Given the description of an element on the screen output the (x, y) to click on. 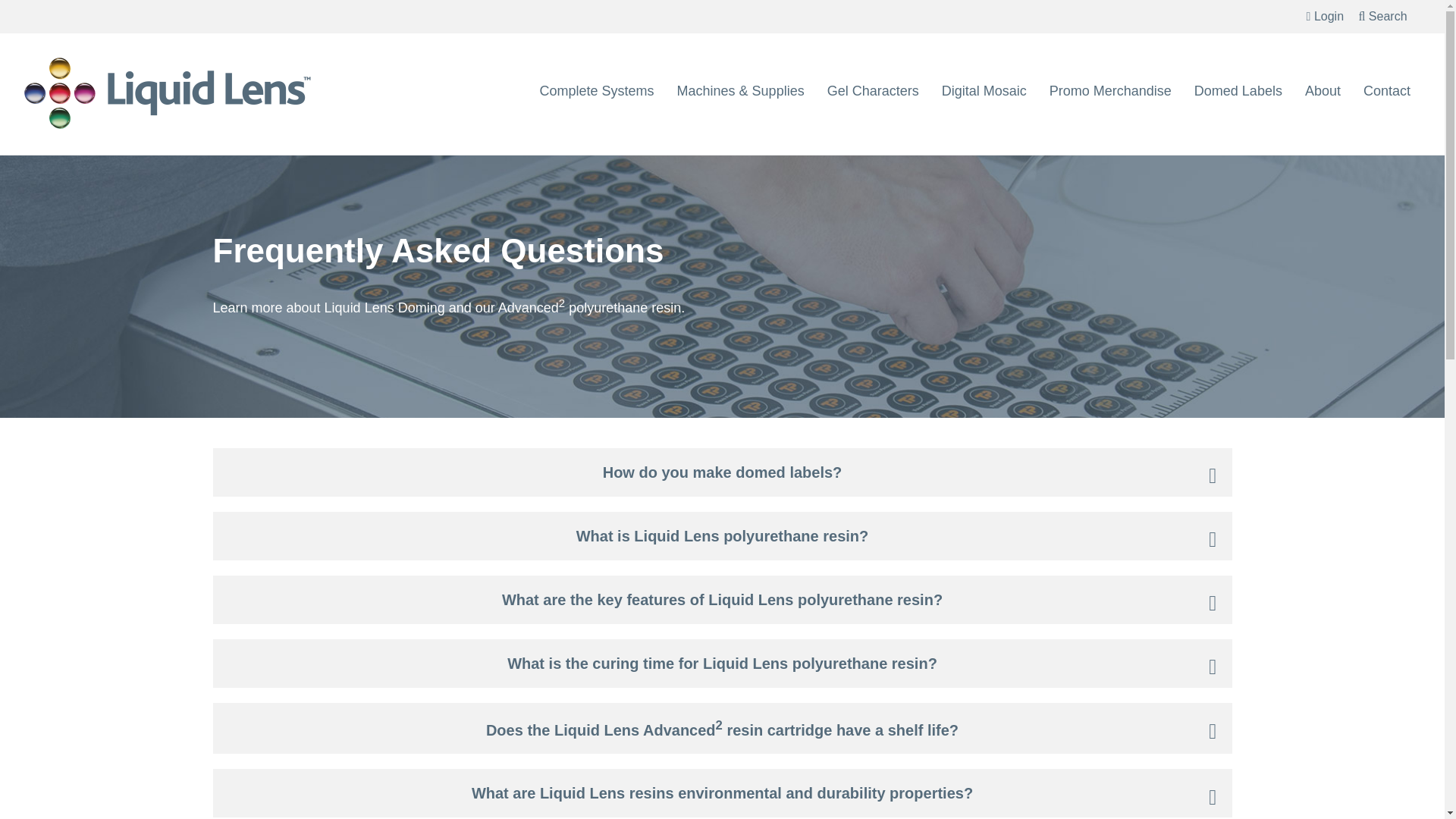
Domed Labels (1238, 90)
Search (1382, 15)
Gel Characters (872, 90)
Complete Systems (596, 90)
Digital Mosaic (984, 90)
Login (1324, 15)
Contact (1387, 90)
About (1323, 90)
Promo Merchandise (1110, 90)
